Given the description of an element on the screen output the (x, y) to click on. 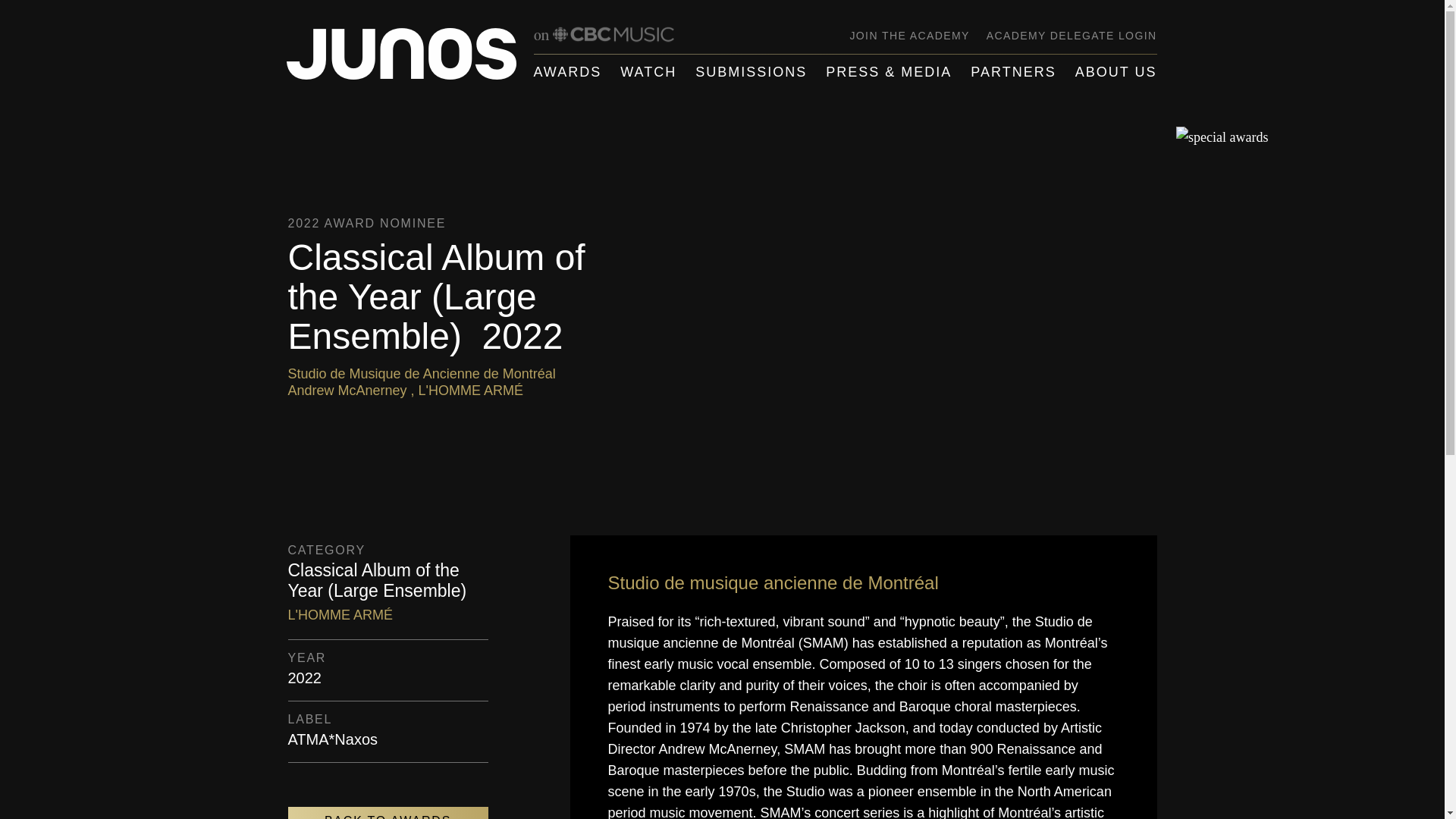
AWARDS (568, 71)
SUBMISSIONS (750, 71)
WATCH (648, 71)
JOIN THE ACADEMY (908, 35)
PARTNERS (1013, 71)
ACADEMY DELEGATE LOGIN (1072, 35)
